Given the description of an element on the screen output the (x, y) to click on. 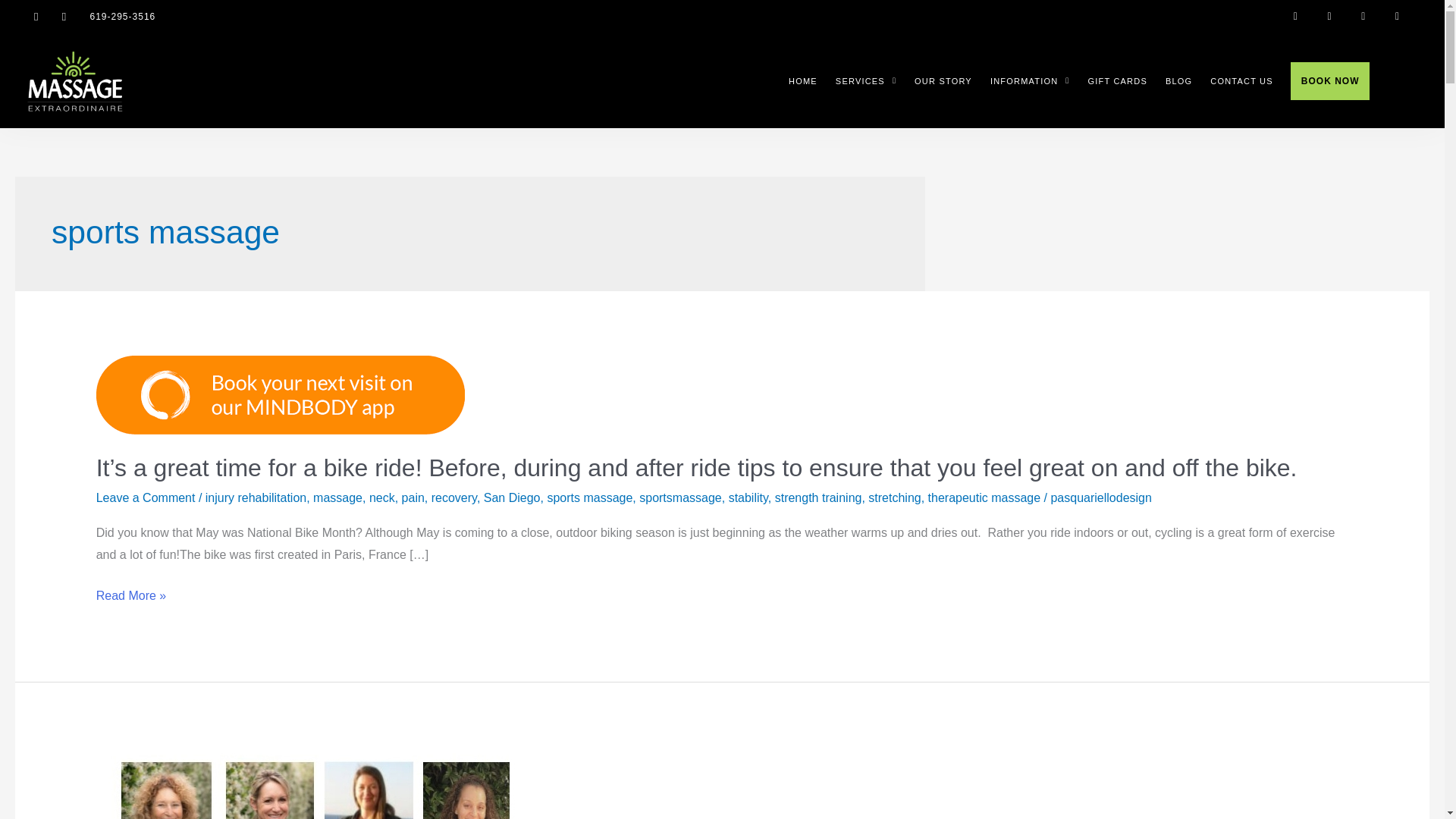
Facebook-f (1295, 17)
Yelp (1362, 17)
Instagram (1329, 17)
View all posts by pasquariellodesign (1100, 497)
619-295-3516 (121, 16)
HOME (803, 79)
SERVICES (865, 80)
Linkedin (1396, 17)
